Given the description of an element on the screen output the (x, y) to click on. 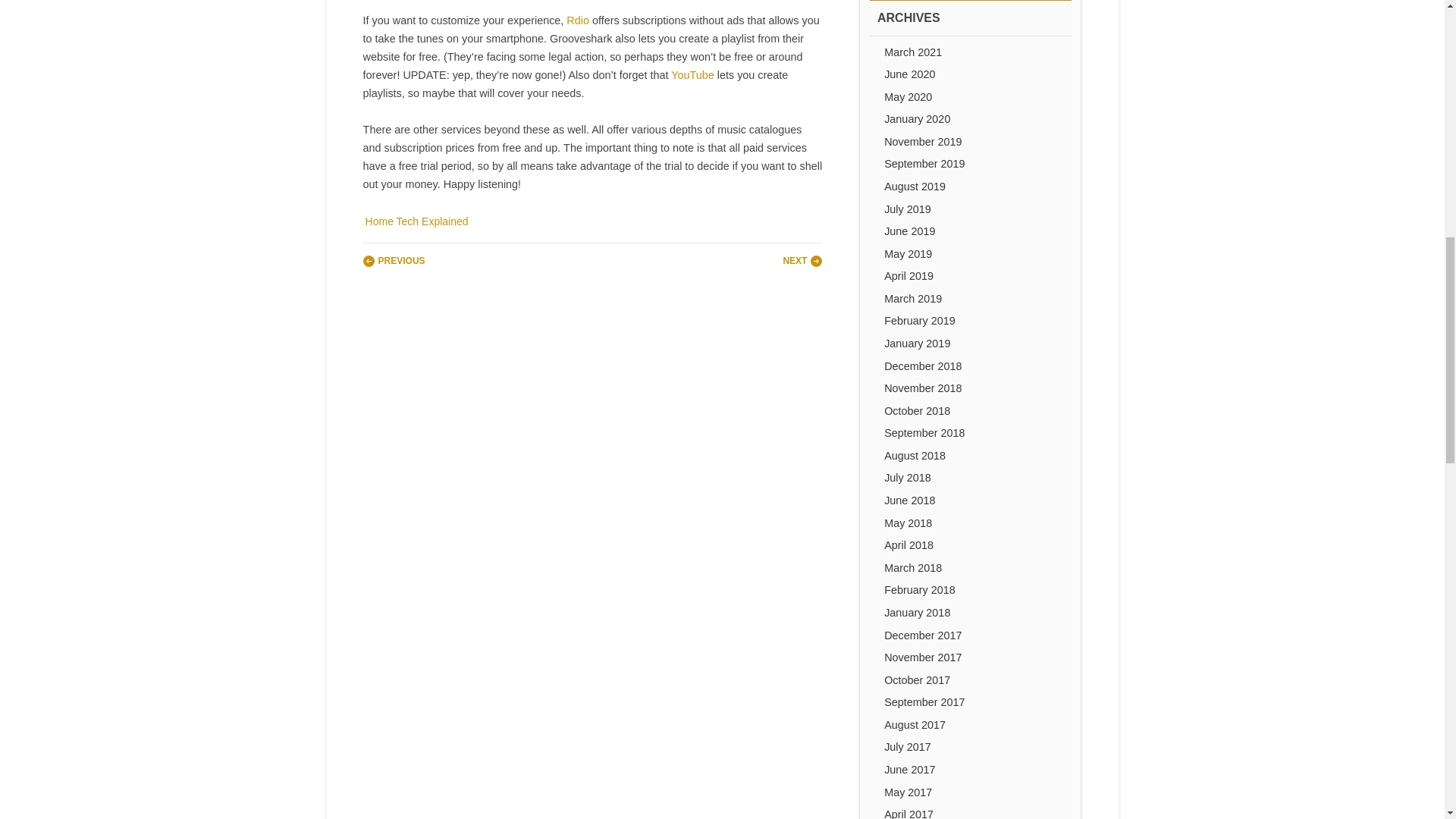
Rdio (577, 20)
Home Tech Explained (416, 221)
YouTube (692, 74)
YouTube (692, 74)
NEXT (802, 260)
Rdio (577, 20)
PREVIOUS (393, 260)
